Given the description of an element on the screen output the (x, y) to click on. 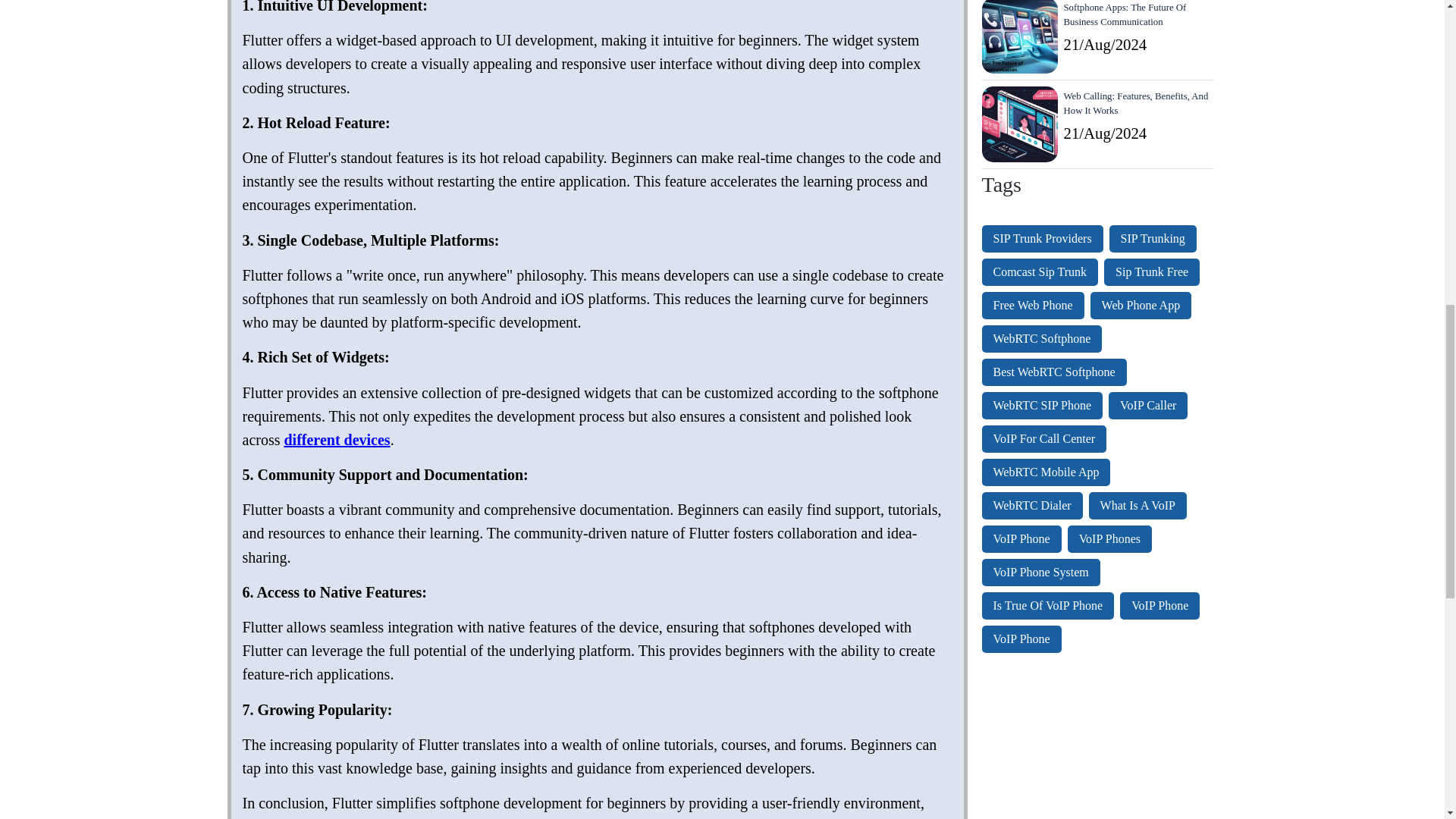
Free Web Phone (1032, 305)
Web Phone App (1141, 305)
Sip Trunk Free (1151, 271)
different devices (336, 439)
SIP Trunk Providers (1041, 238)
SIP Trunking (1152, 238)
Comcast Sip Trunk (1039, 271)
